Given the description of an element on the screen output the (x, y) to click on. 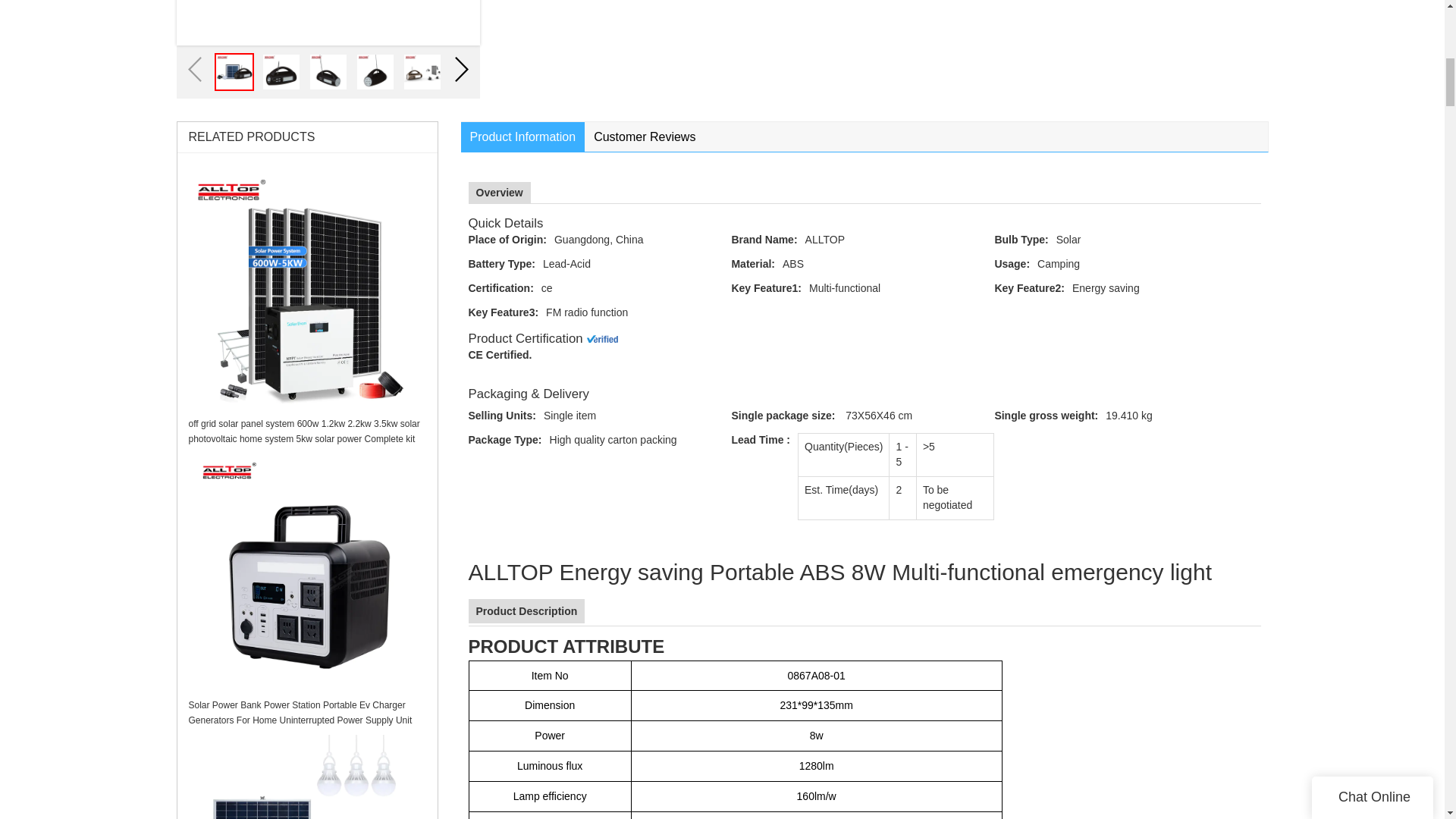
Place of Origin (507, 239)
Solar (1157, 240)
Energy saving (1164, 288)
ALLTOP (899, 240)
FM radio function (638, 313)
Brand Name (763, 239)
Certification (501, 287)
Key Feature2 (1029, 287)
Usage (1011, 263)
Bulb Type (1021, 239)
